Given the description of an element on the screen output the (x, y) to click on. 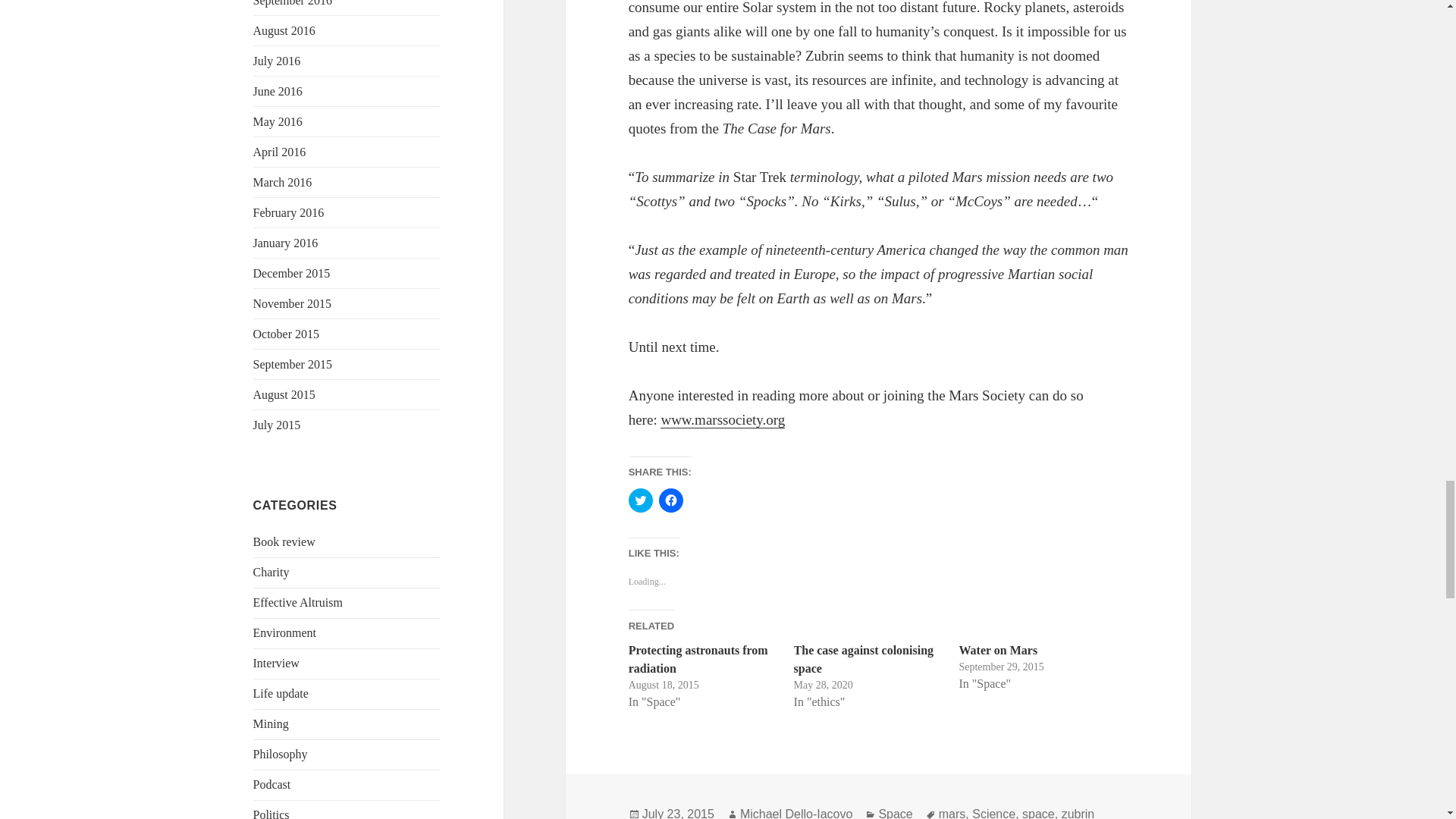
Click to share on Twitter (640, 500)
The case against colonising space (863, 658)
Water on Mars (997, 649)
Protecting astronauts from radiation (698, 658)
Click to share on Facebook (670, 500)
